Given the description of an element on the screen output the (x, y) to click on. 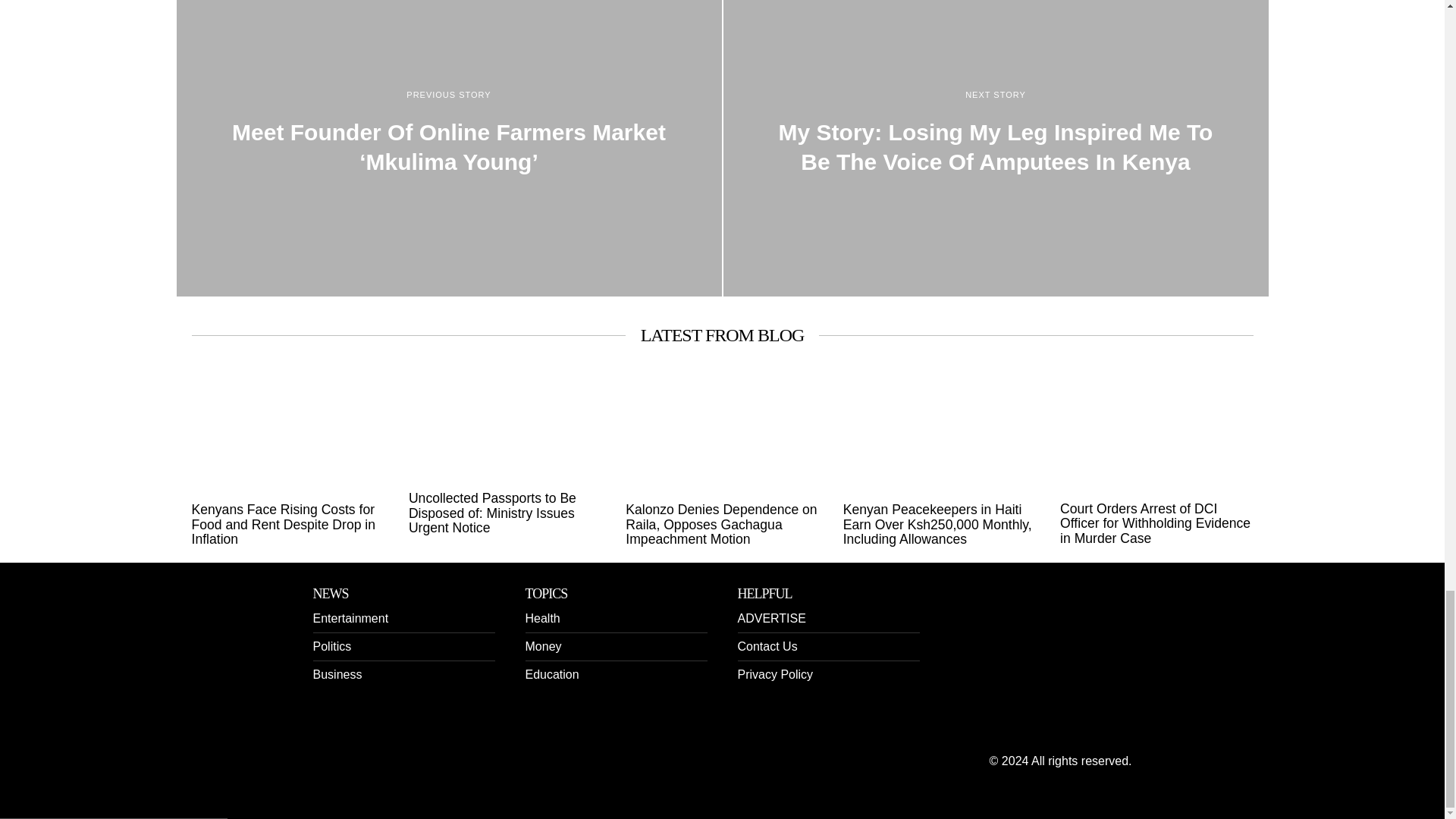
Business (337, 674)
Entertainment (350, 617)
Politics (331, 645)
Health (541, 617)
